Given the description of an element on the screen output the (x, y) to click on. 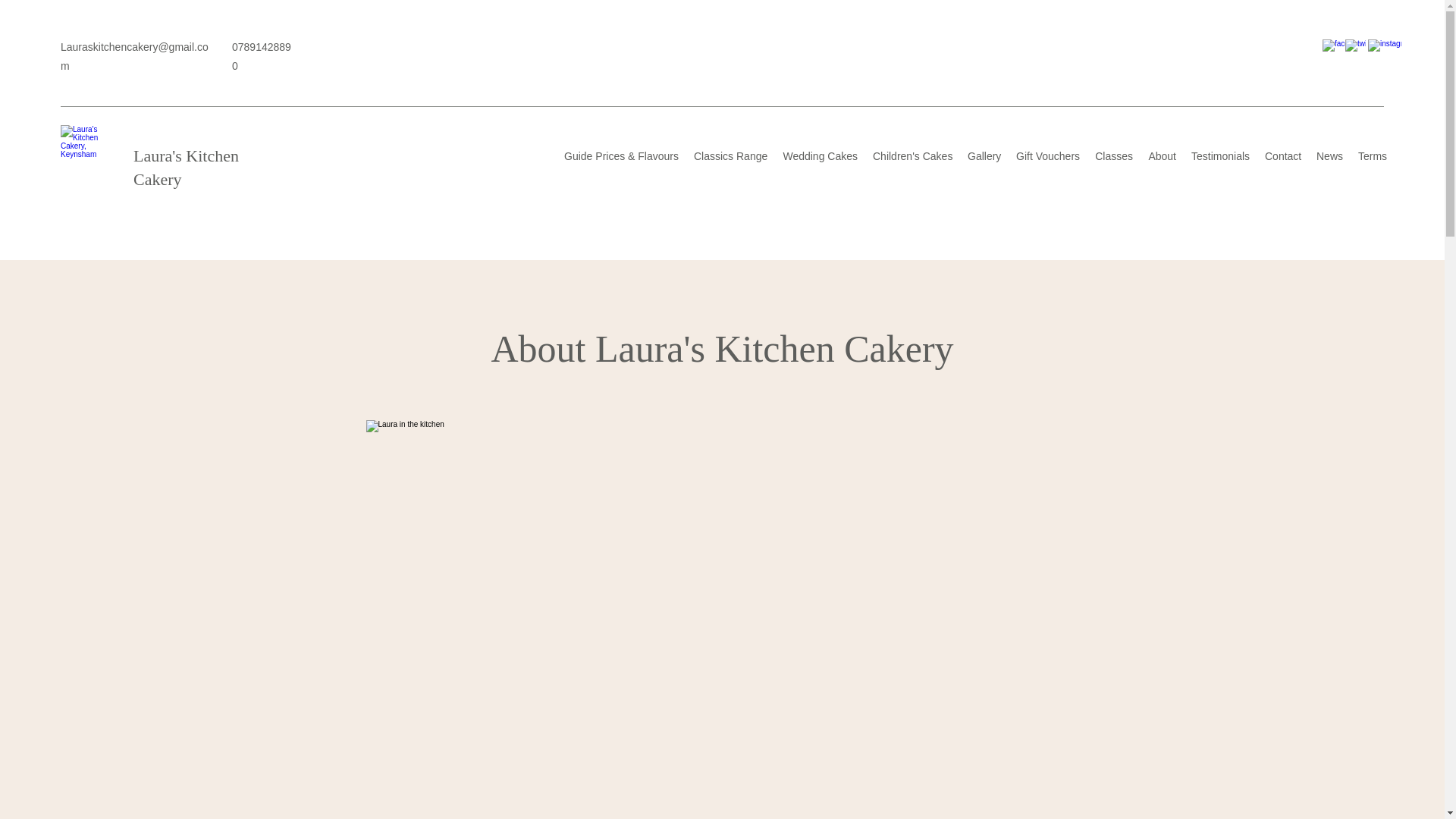
Classics Range (729, 155)
News (1329, 155)
About (1161, 155)
Gallery (984, 155)
Terms (1372, 155)
Wedding Cakes (819, 155)
Classes (1113, 155)
Testimonials (1220, 155)
Contact (1282, 155)
Gift Vouchers (1048, 155)
